Given the description of an element on the screen output the (x, y) to click on. 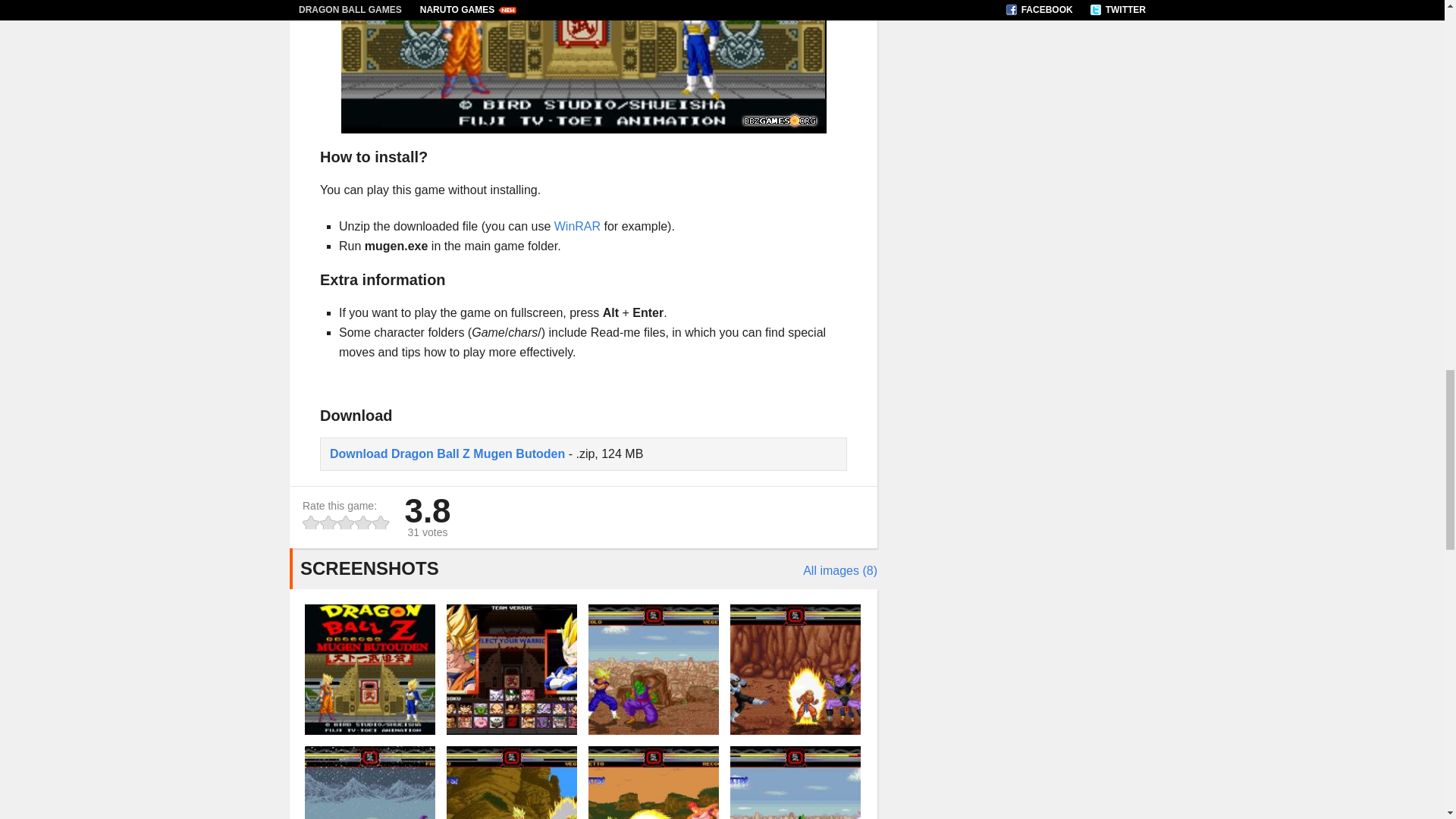
Download Dragon Ball Z Mugen Butoden (447, 454)
All Dragon Ball Z Mugen Butoden images (840, 570)
WinRAR (576, 226)
WinRAR (576, 226)
